Given the description of an element on the screen output the (x, y) to click on. 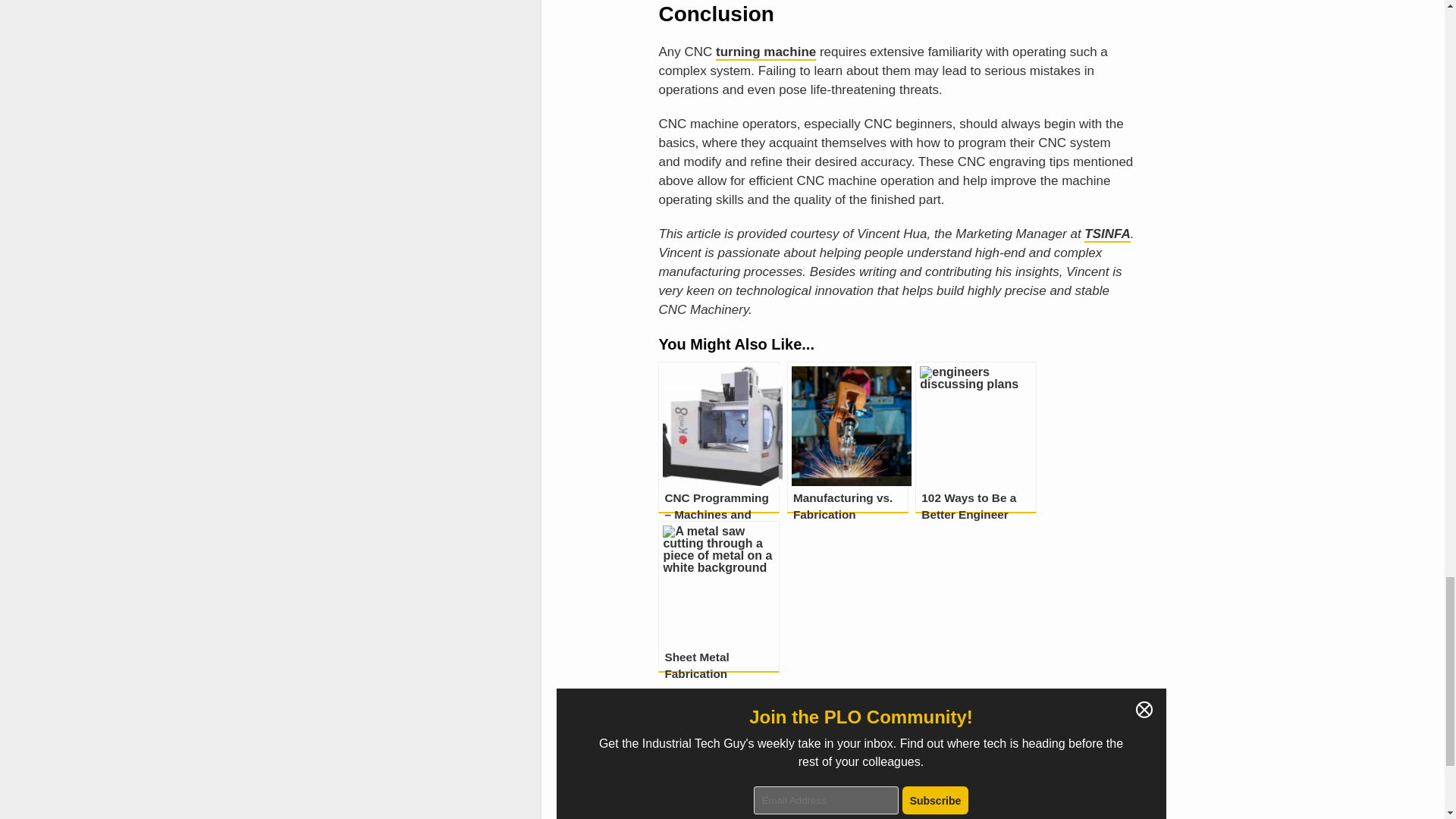
TSINFA (1106, 234)
Subscribe (935, 800)
turning machine (765, 52)
